Given the description of an element on the screen output the (x, y) to click on. 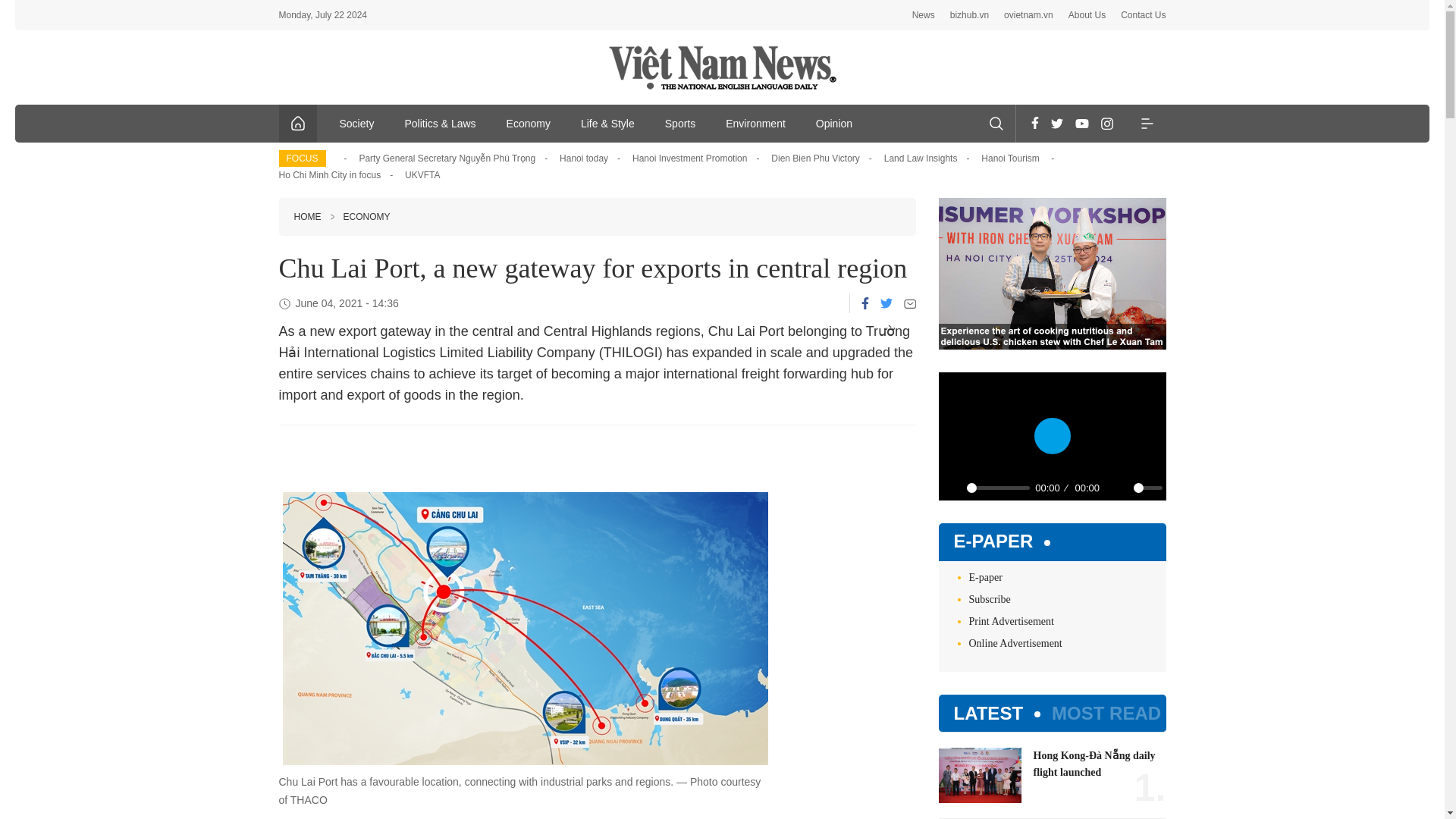
Instagram (1106, 123)
Twitter (1056, 122)
Opinion (833, 123)
Contact Us (1143, 15)
Society (357, 123)
Sports (679, 123)
Email (909, 303)
Twitter (885, 303)
Facebook (1035, 123)
Environment (755, 123)
About Us (1086, 15)
Youtube (1081, 122)
0 (1146, 487)
bizhub.vn (969, 15)
News (923, 15)
